Given the description of an element on the screen output the (x, y) to click on. 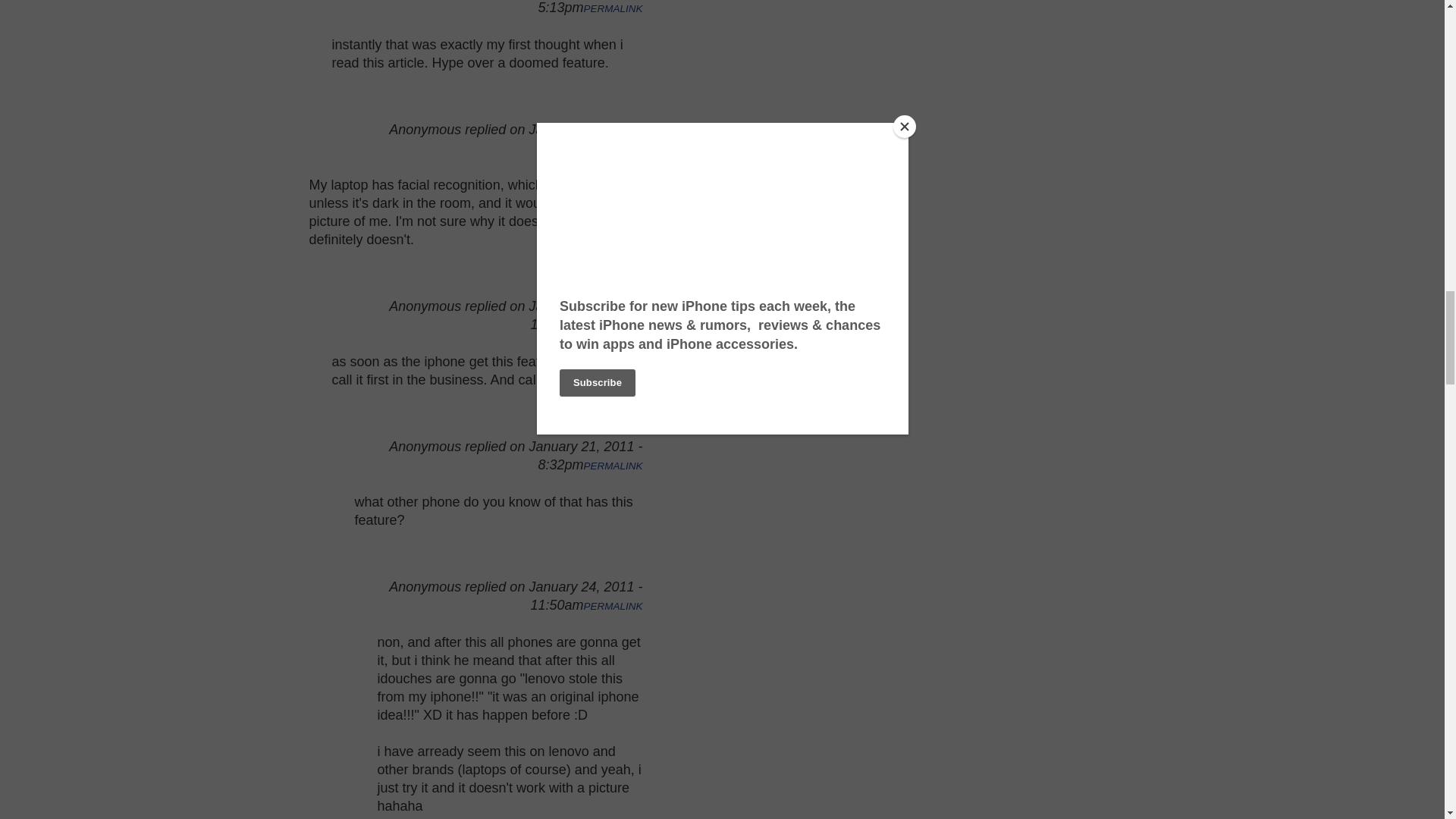
PERMALINK (612, 605)
PERMALINK (612, 465)
PERMALINK (612, 148)
PERMALINK (612, 325)
PERMALINK (612, 8)
